Given the description of an element on the screen output the (x, y) to click on. 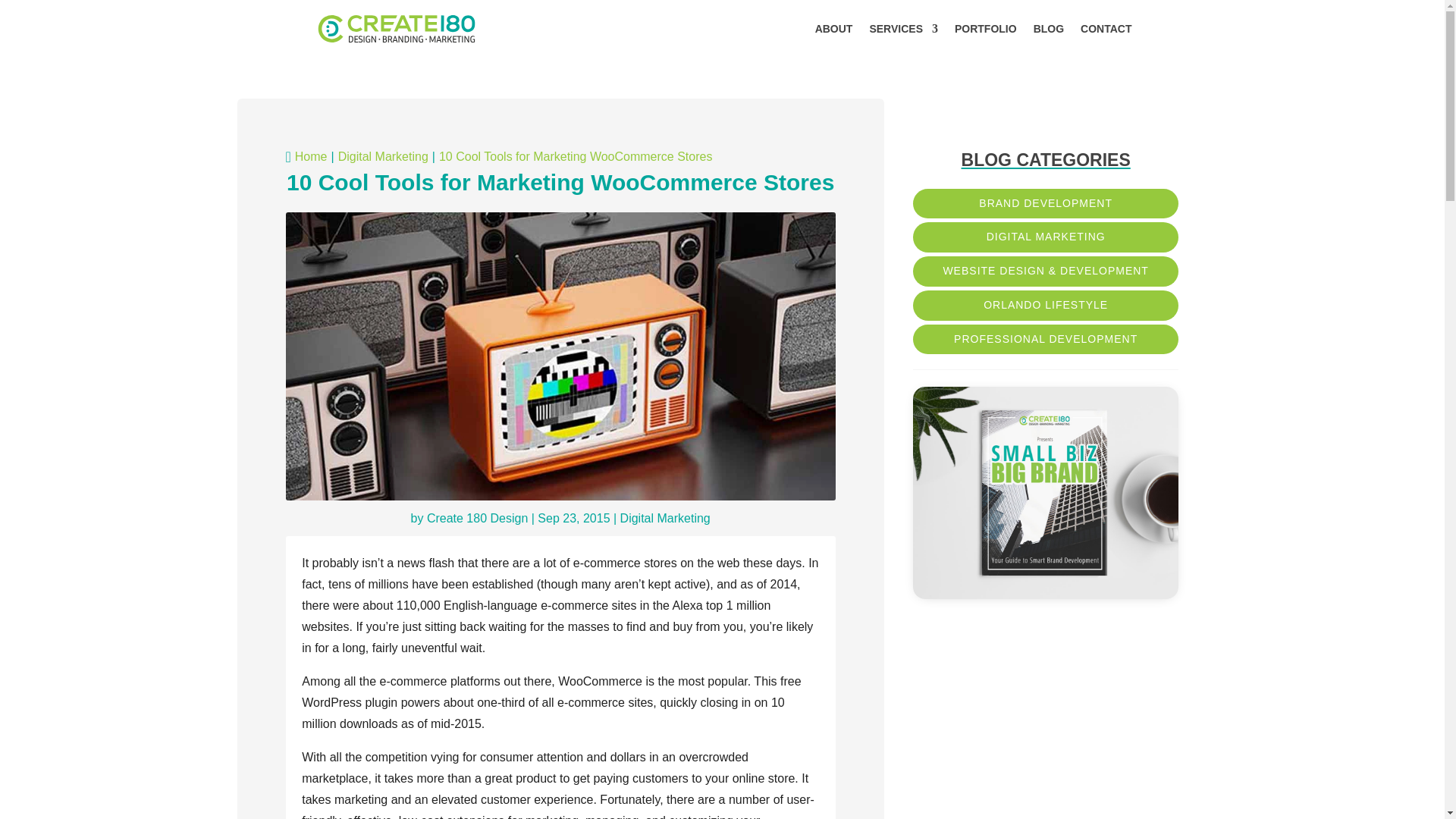
10 Cool Tools for Marketing WooCommerce Stores (575, 157)
SERVICES (903, 28)
C180D-BLOG-Small-Biz-Big-Brands (1044, 492)
Create 180 Design (476, 517)
PORTFOLIO (985, 28)
Digital Marketing (665, 517)
Digital Marketing (382, 157)
Posts by Create 180 Design (476, 517)
